Given the description of an element on the screen output the (x, y) to click on. 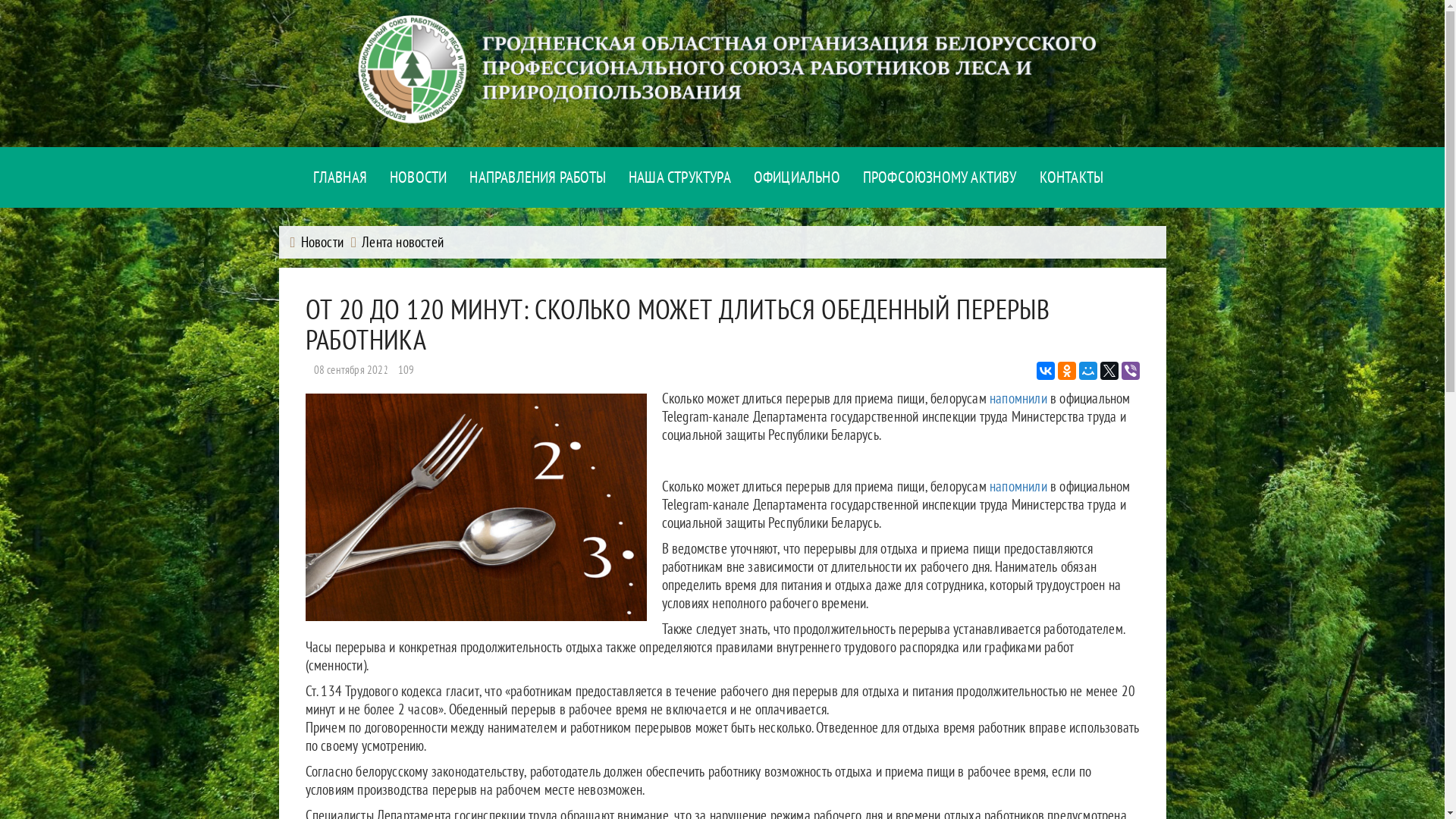
Twitter Element type: hover (1108, 370)
Viber Element type: hover (1129, 370)
